Given the description of an element on the screen output the (x, y) to click on. 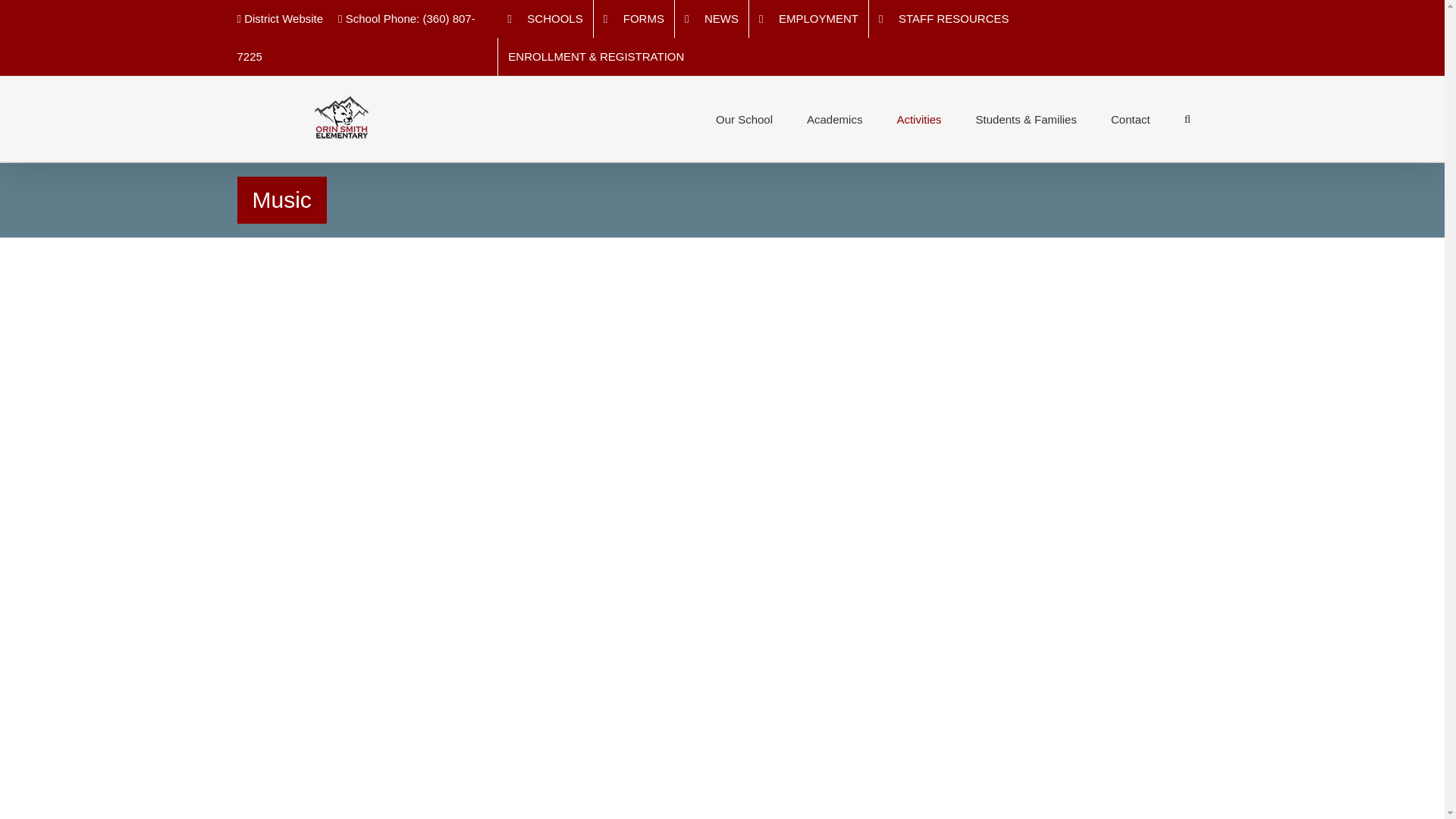
SCHOOLS (544, 18)
STAFF RESOURCES (944, 18)
District Website (279, 18)
NEWS (711, 18)
EMPLOYMENT (808, 18)
Our School (743, 118)
FORMS (634, 18)
Activities (918, 118)
Academics (834, 118)
